Given the description of an element on the screen output the (x, y) to click on. 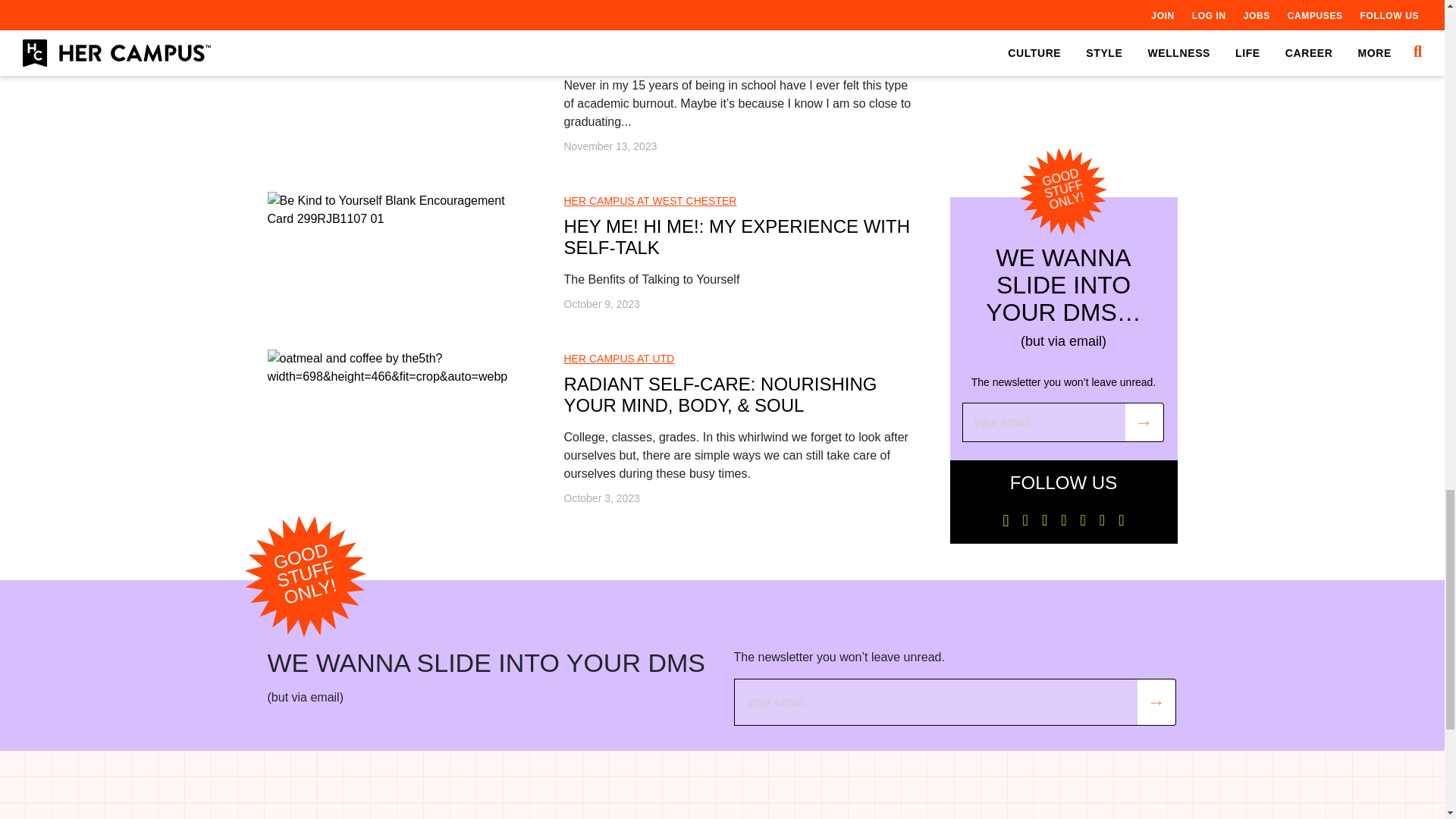
Hey Me! Hi Me!: My Experience With Self-Talk 9 (397, 209)
The Overwhelming Stress of Academic Burnout 8 (397, 17)
